Given the description of an element on the screen output the (x, y) to click on. 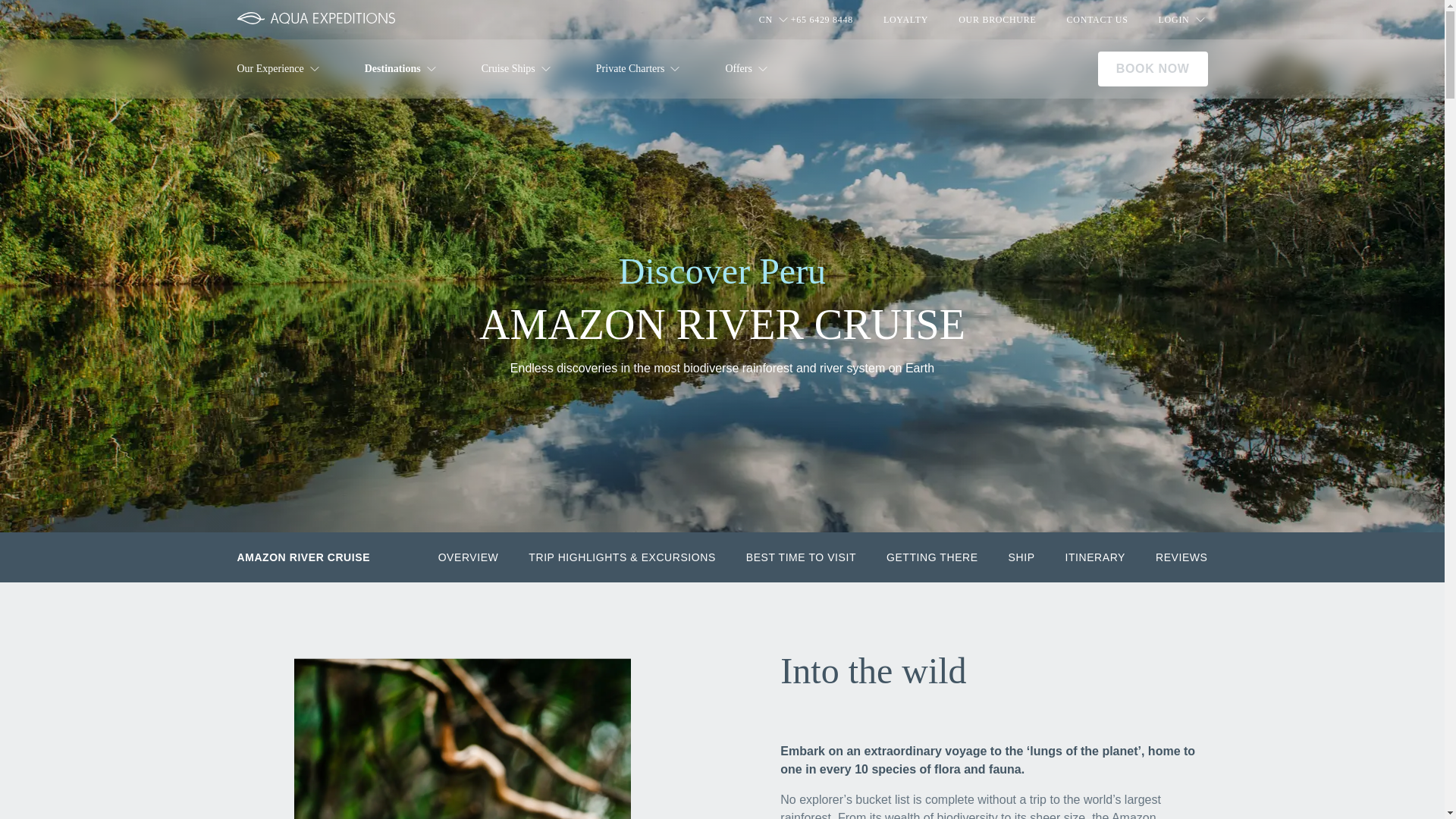
Destinations (401, 68)
CONTACT US (1097, 19)
LOYALTY (905, 19)
OUR BROCHURE (996, 19)
Our Experience (288, 68)
Private Charters (639, 68)
Cruise Ships (517, 68)
